Given the description of an element on the screen output the (x, y) to click on. 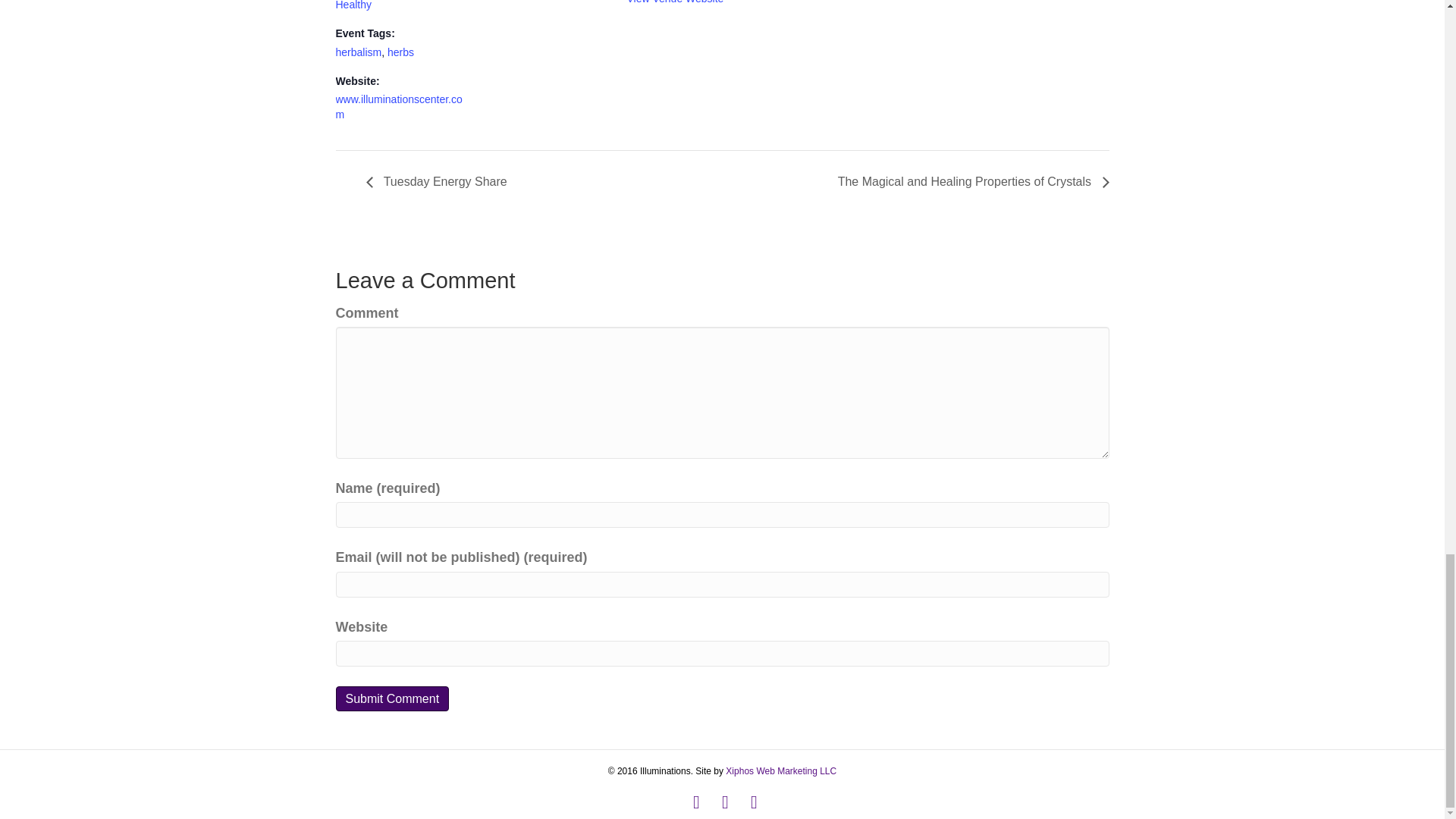
Submit Comment (391, 698)
herbalism (357, 51)
herbs (400, 51)
Healthy (352, 5)
